Given the description of an element on the screen output the (x, y) to click on. 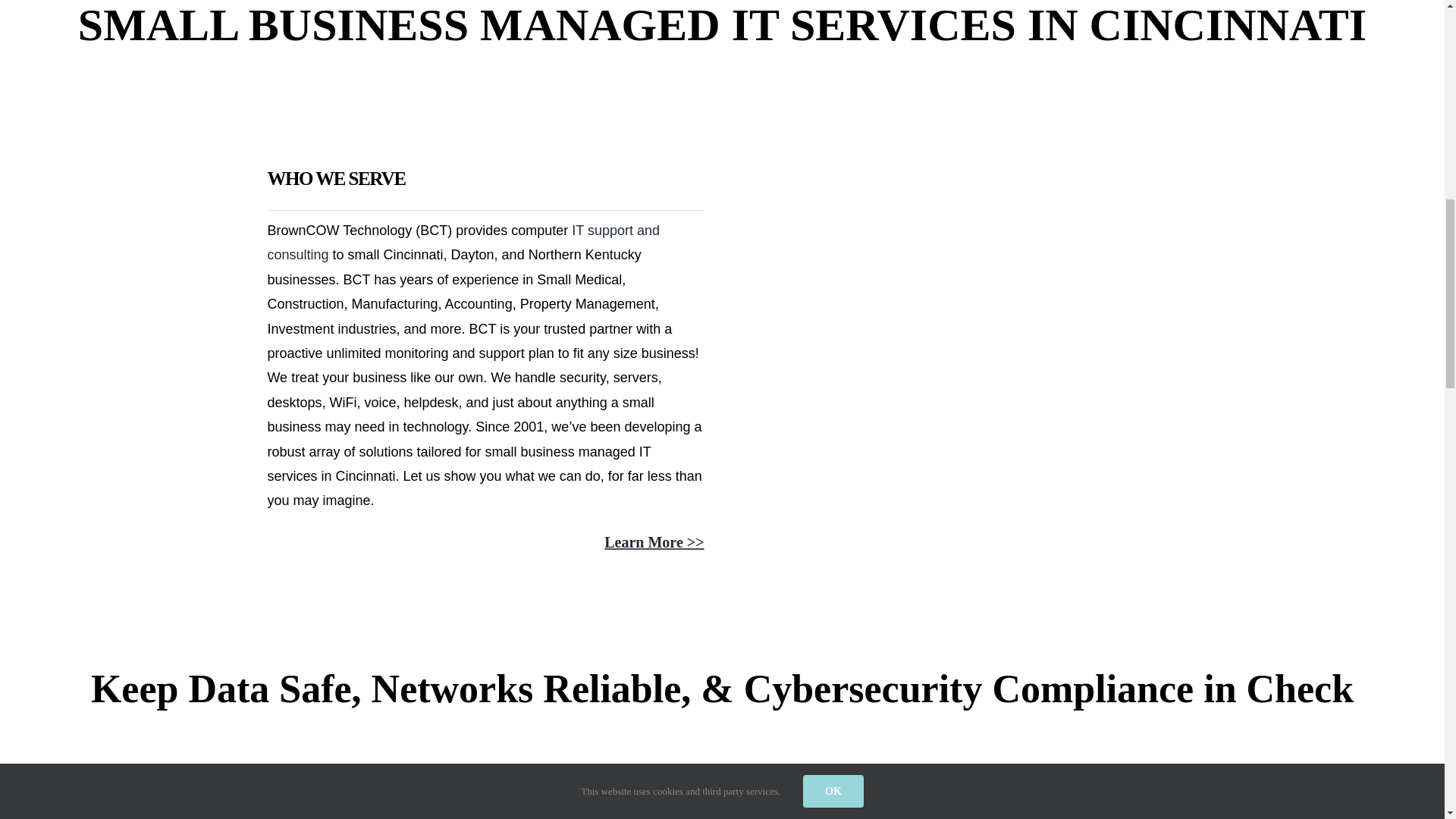
IT support and consulting (462, 242)
